Given the description of an element on the screen output the (x, y) to click on. 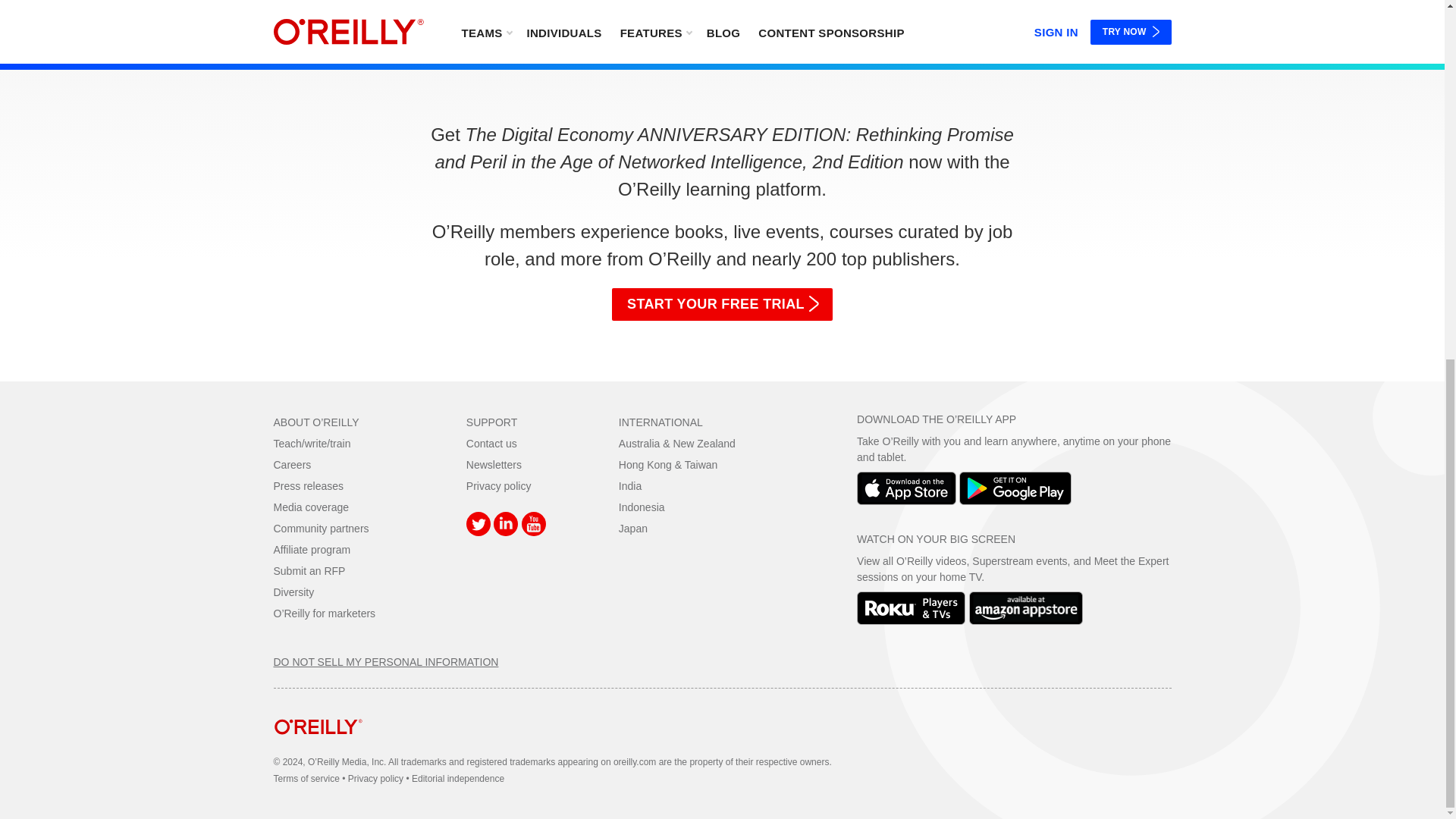
Diversity (293, 592)
START YOUR FREE TRIAL (721, 304)
Newsletters (493, 464)
home page (317, 745)
Media coverage (311, 507)
Press releases (308, 485)
Submit an RFP (309, 571)
Community partners (320, 528)
SUPPORT (490, 422)
Privacy policy (498, 485)
Contact us (490, 443)
Careers (292, 464)
Affiliate program (311, 549)
